Given the description of an element on the screen output the (x, y) to click on. 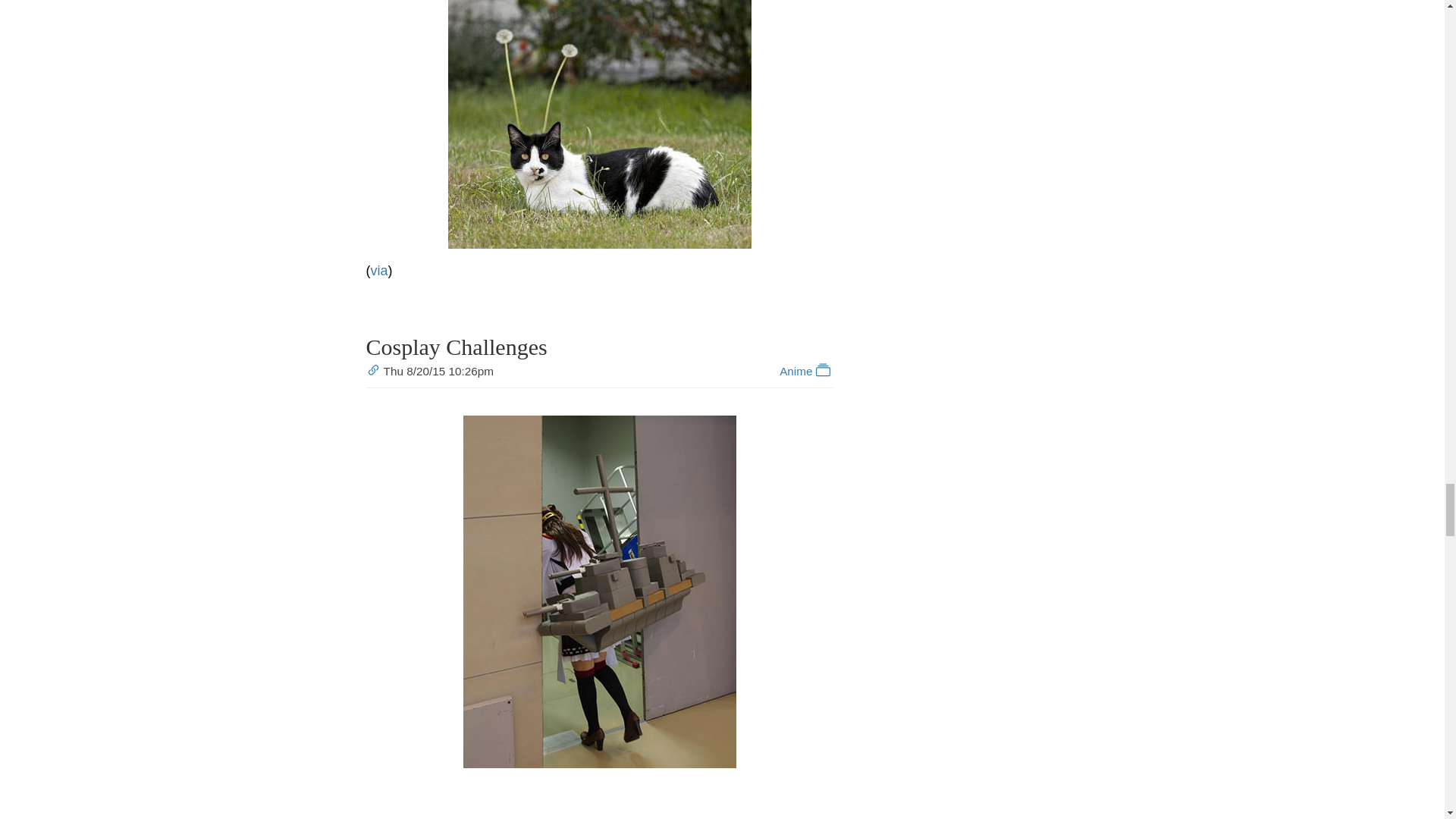
martian-cat.jpg (599, 124)
shipgirl-problems.jpg (599, 591)
